Given the description of an element on the screen output the (x, y) to click on. 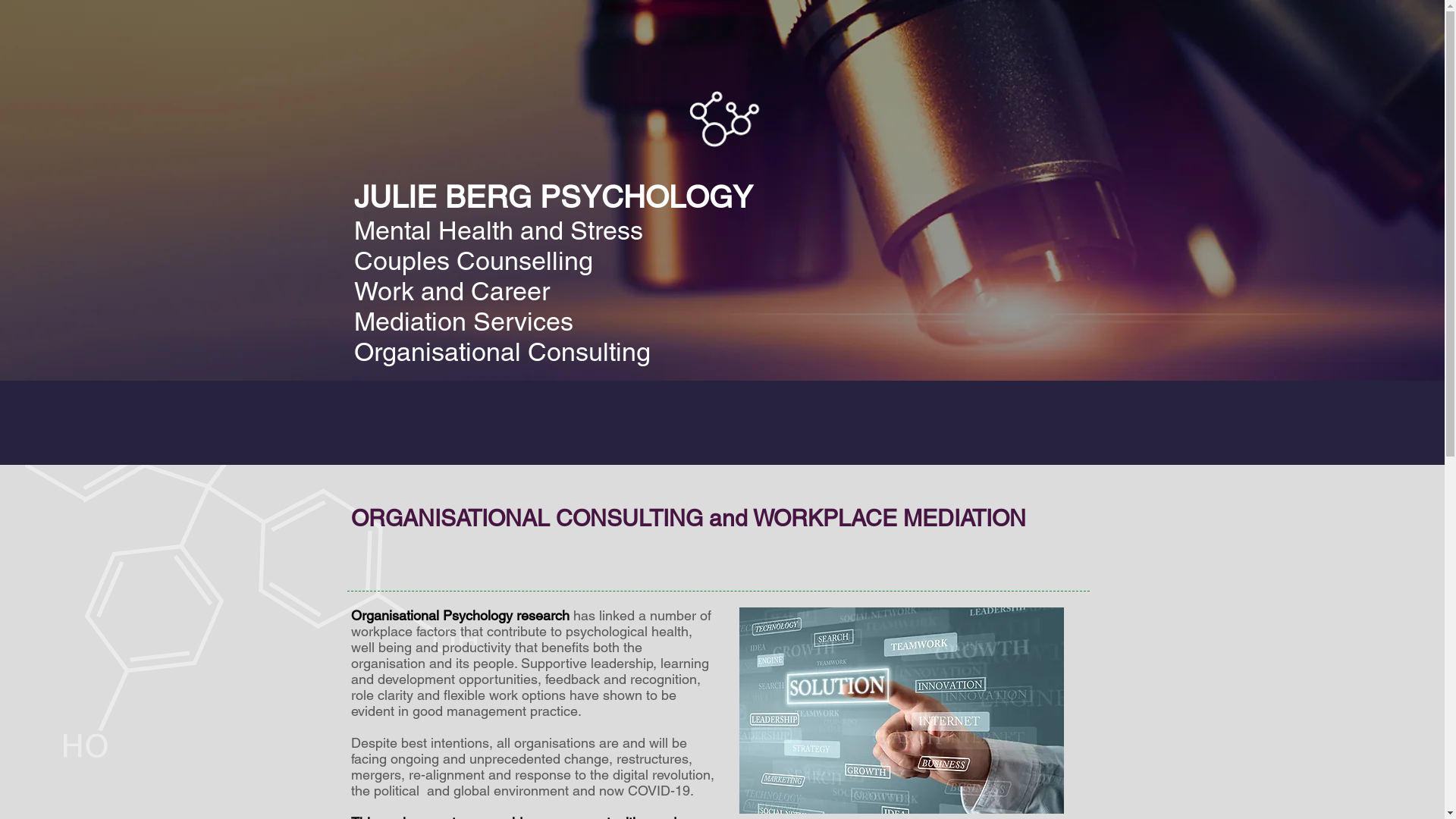
JULIE BERG PSYCHOLOGY Element type: text (552, 196)
hand-image.jpg Element type: hover (900, 710)
